Given the description of an element on the screen output the (x, y) to click on. 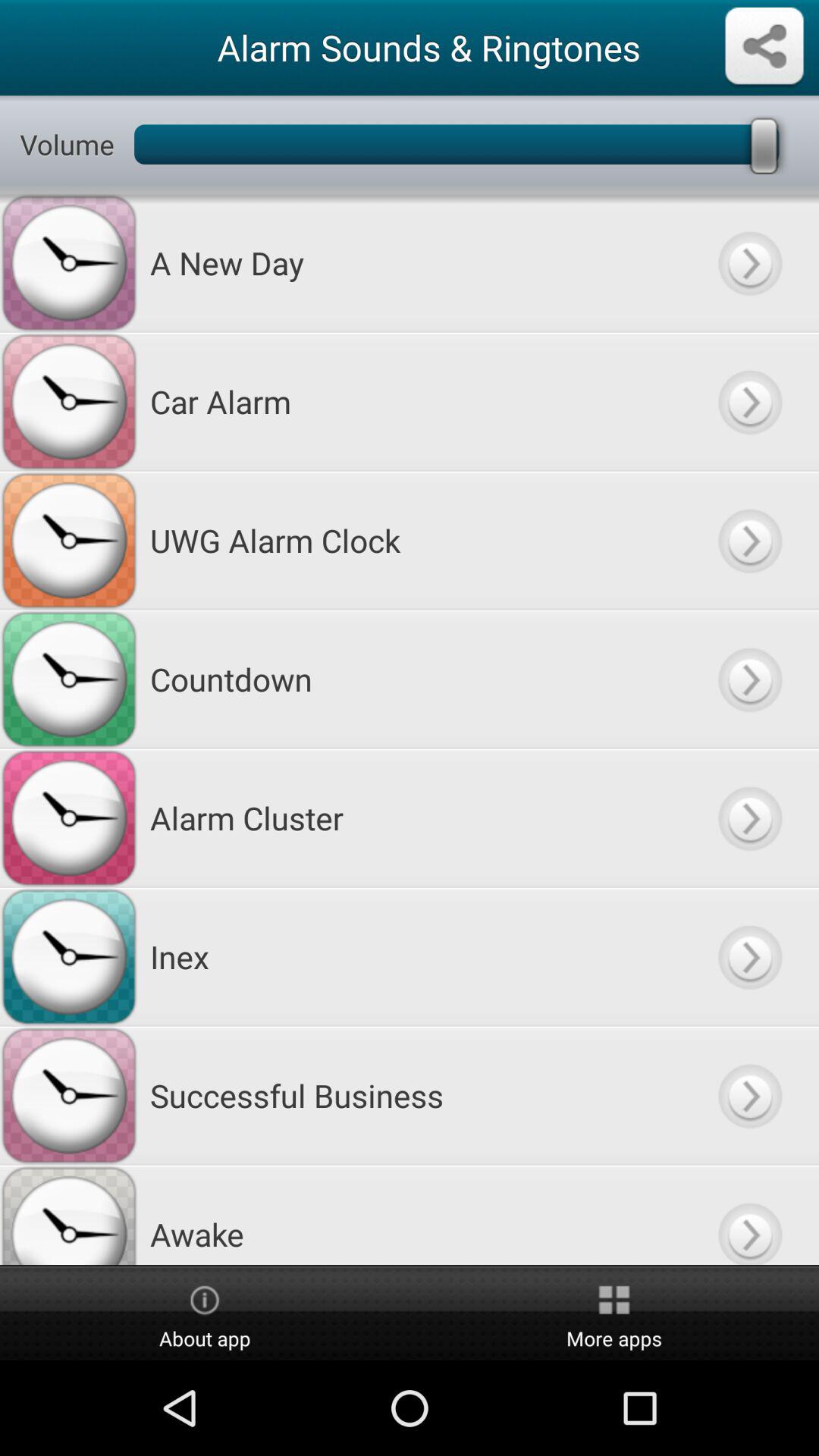
click to forward option (749, 679)
